Given the description of an element on the screen output the (x, y) to click on. 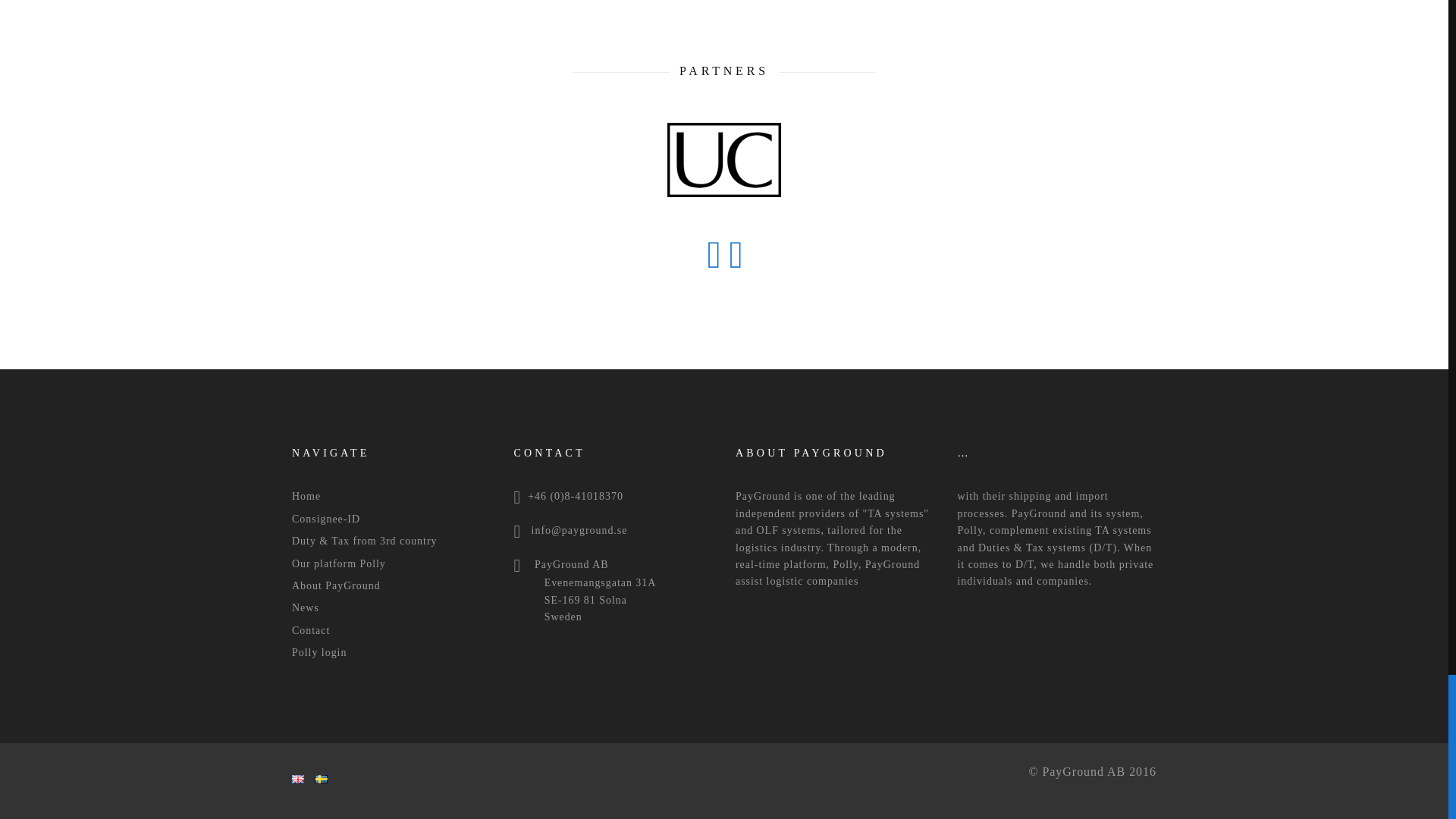
Polly login (319, 652)
English (298, 778)
Our platform Polly (338, 563)
Consignee-ID (325, 518)
Svenska (321, 778)
About PayGround (336, 585)
News (305, 607)
Home (306, 496)
Contact (311, 630)
